Given the description of an element on the screen output the (x, y) to click on. 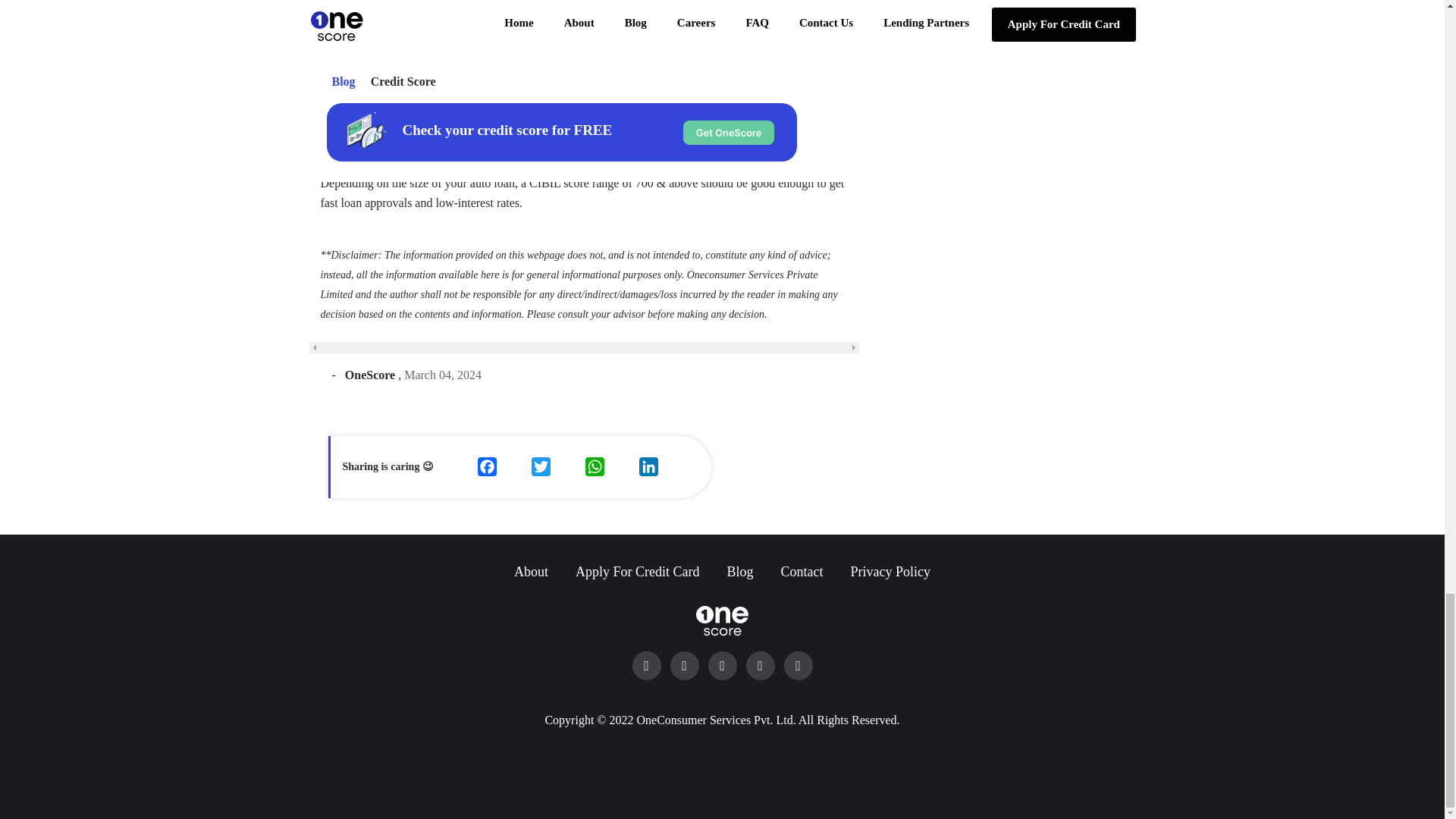
Blog (739, 571)
Privacy Policy (890, 571)
Apply For Credit Card (637, 571)
Contact (802, 571)
About (530, 571)
